Given the description of an element on the screen output the (x, y) to click on. 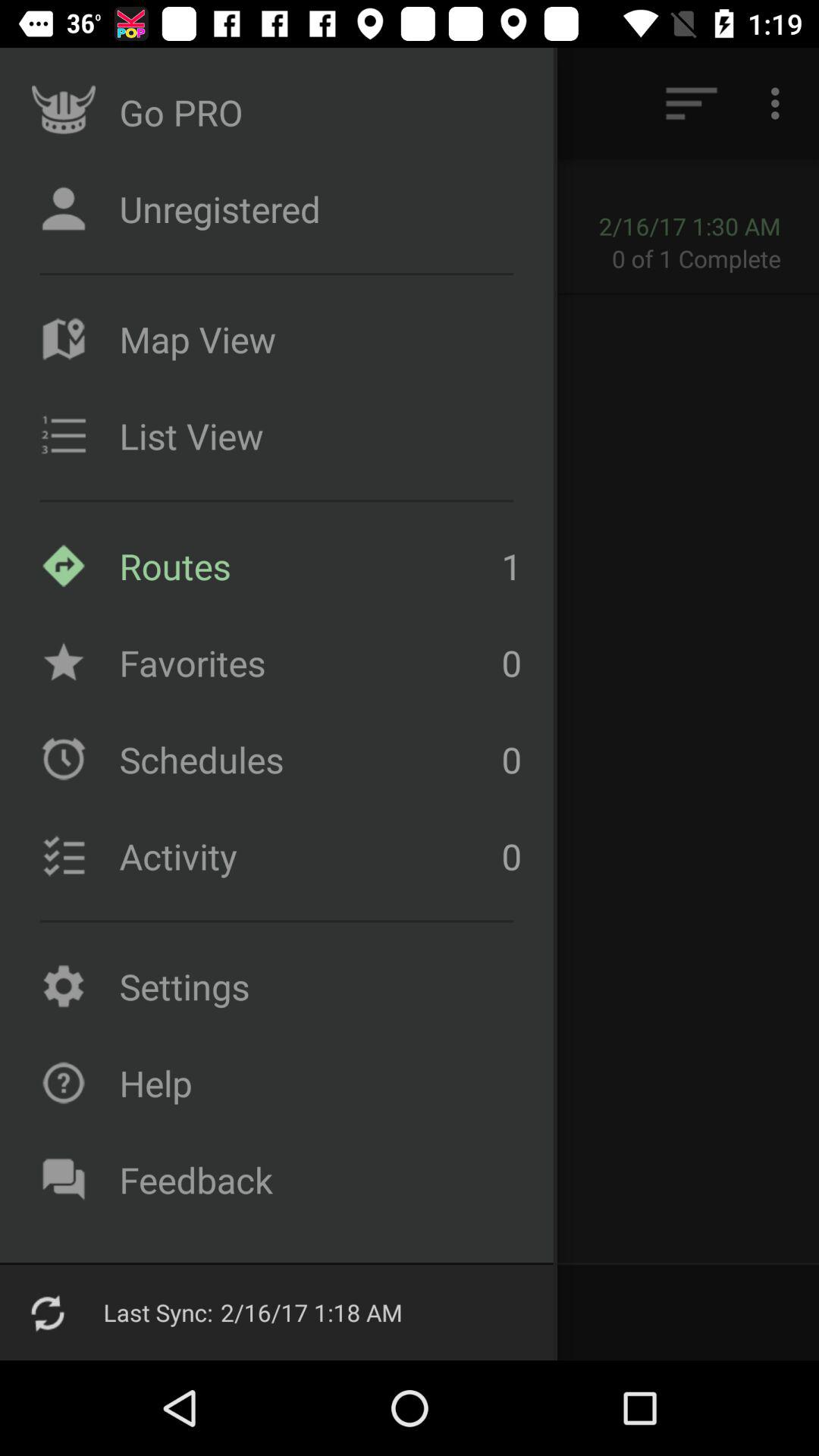
scroll until unregistered item (316, 208)
